Given the description of an element on the screen output the (x, y) to click on. 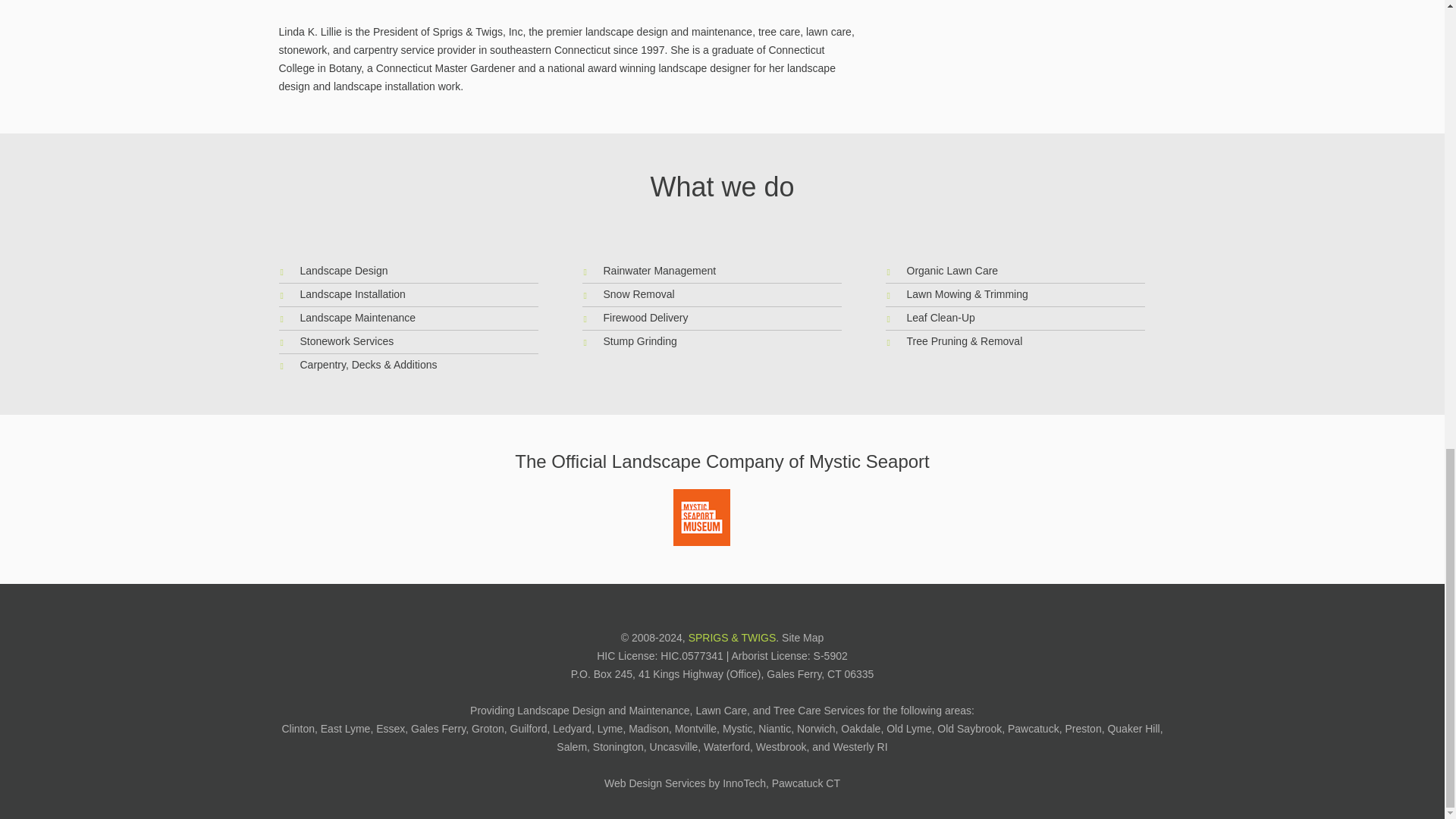
Landscape Installation (352, 294)
Landscape Design (343, 270)
Landscape Maintenance (357, 317)
